Given the description of an element on the screen output the (x, y) to click on. 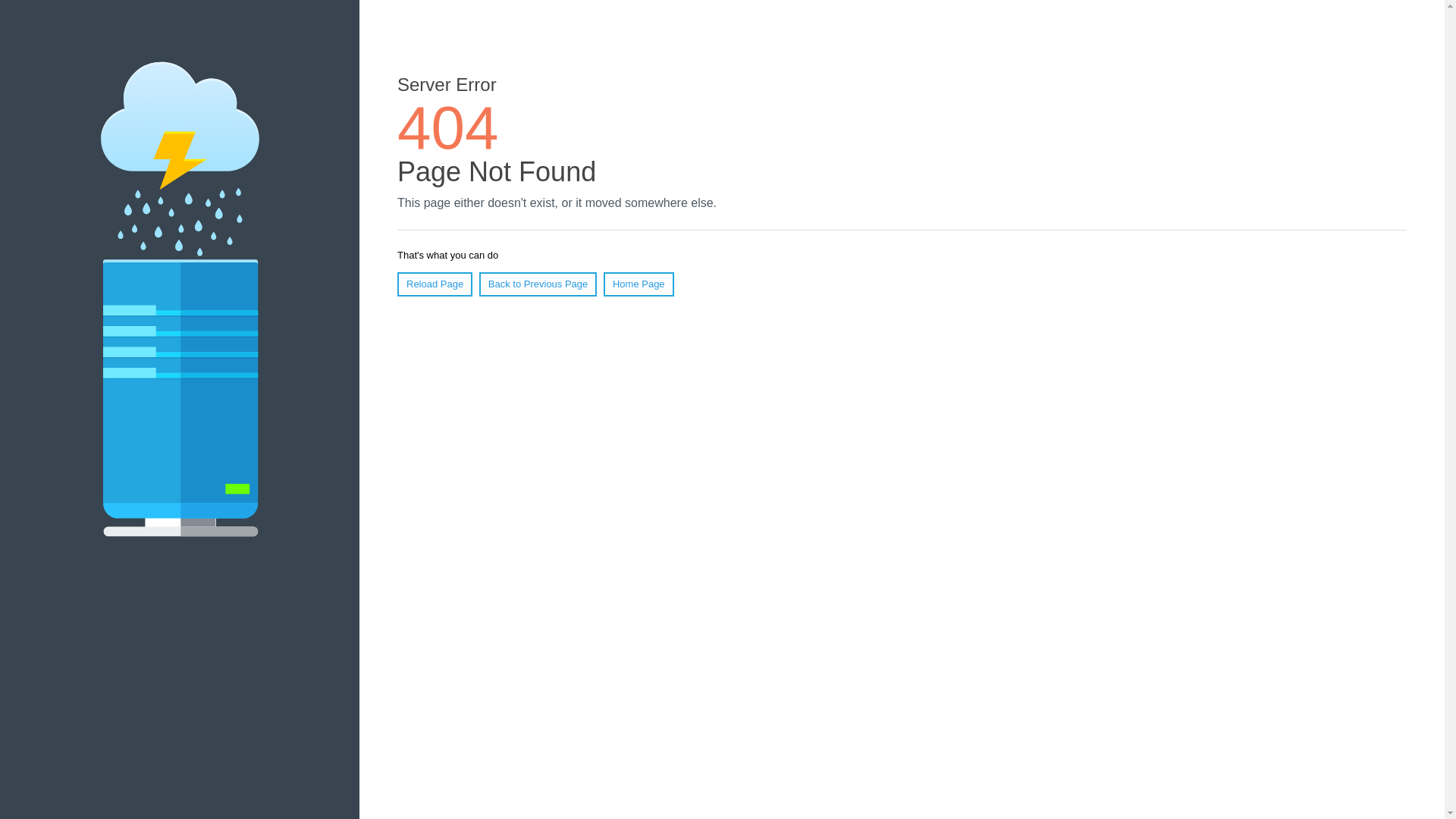
Home Page Element type: text (638, 284)
Reload Page Element type: text (434, 284)
Back to Previous Page Element type: text (538, 284)
